Given the description of an element on the screen output the (x, y) to click on. 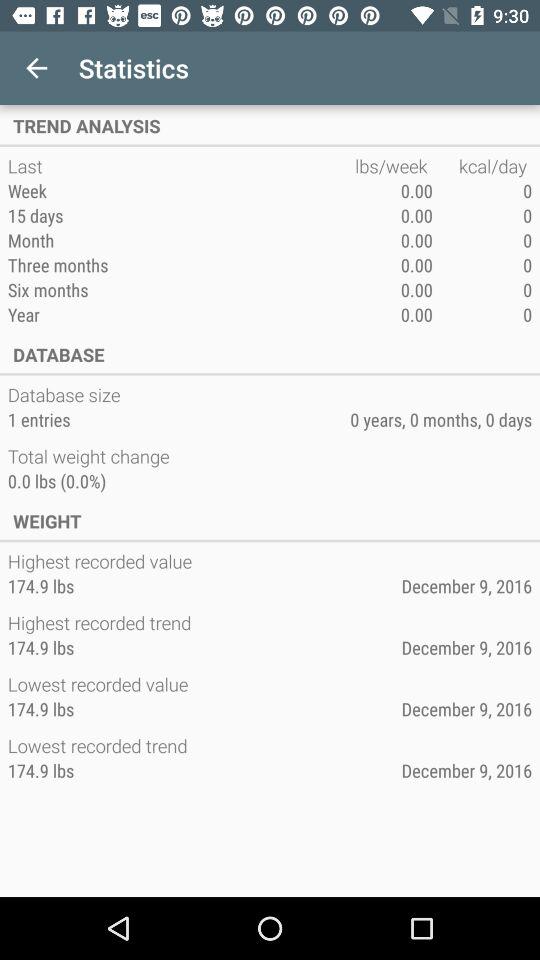
click item next to the last item (393, 165)
